Given the description of an element on the screen output the (x, y) to click on. 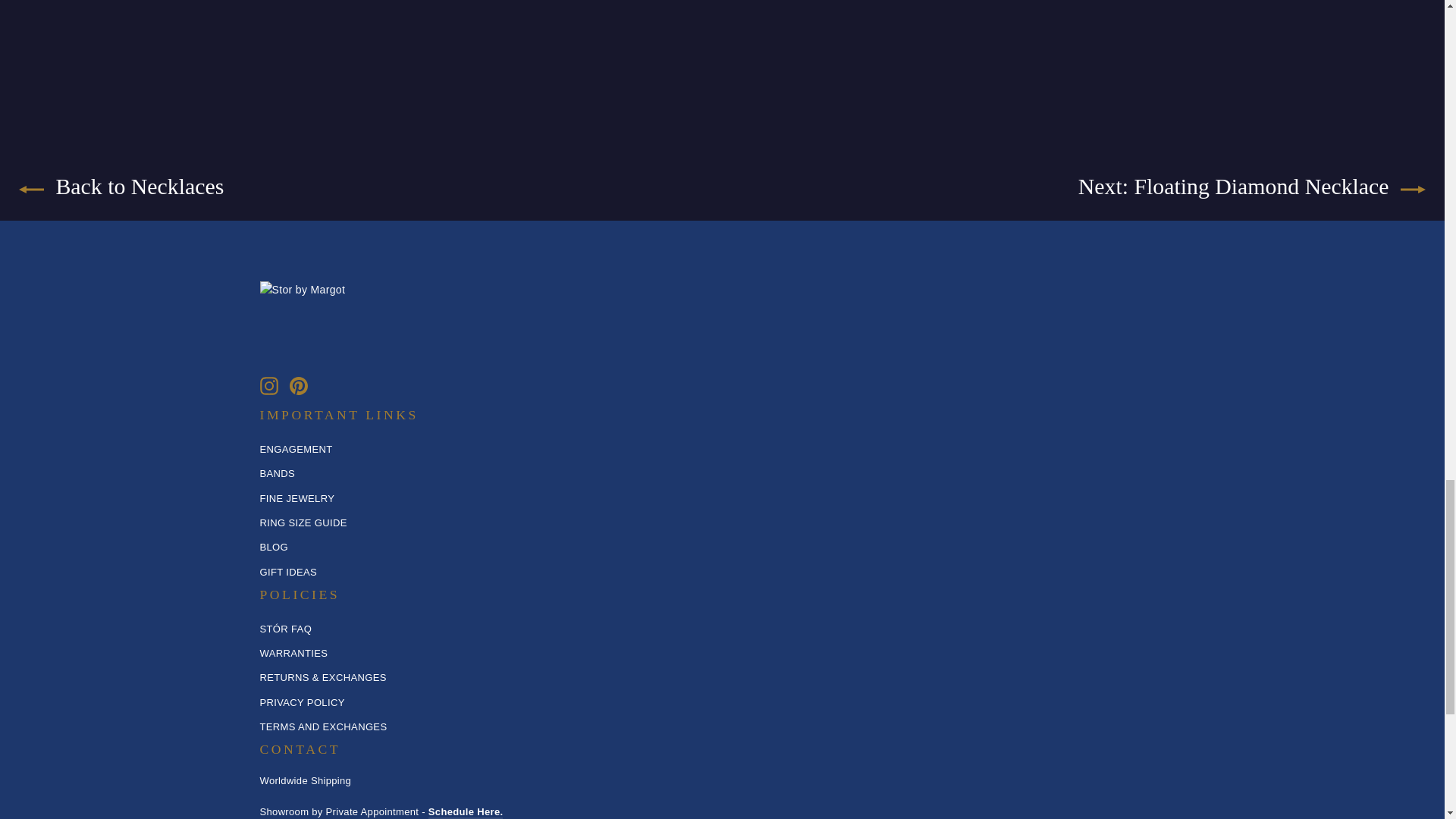
Stor by Margot on Pinterest (298, 385)
Contact (465, 812)
Stor by Margot on Instagram (268, 385)
